Given the description of an element on the screen output the (x, y) to click on. 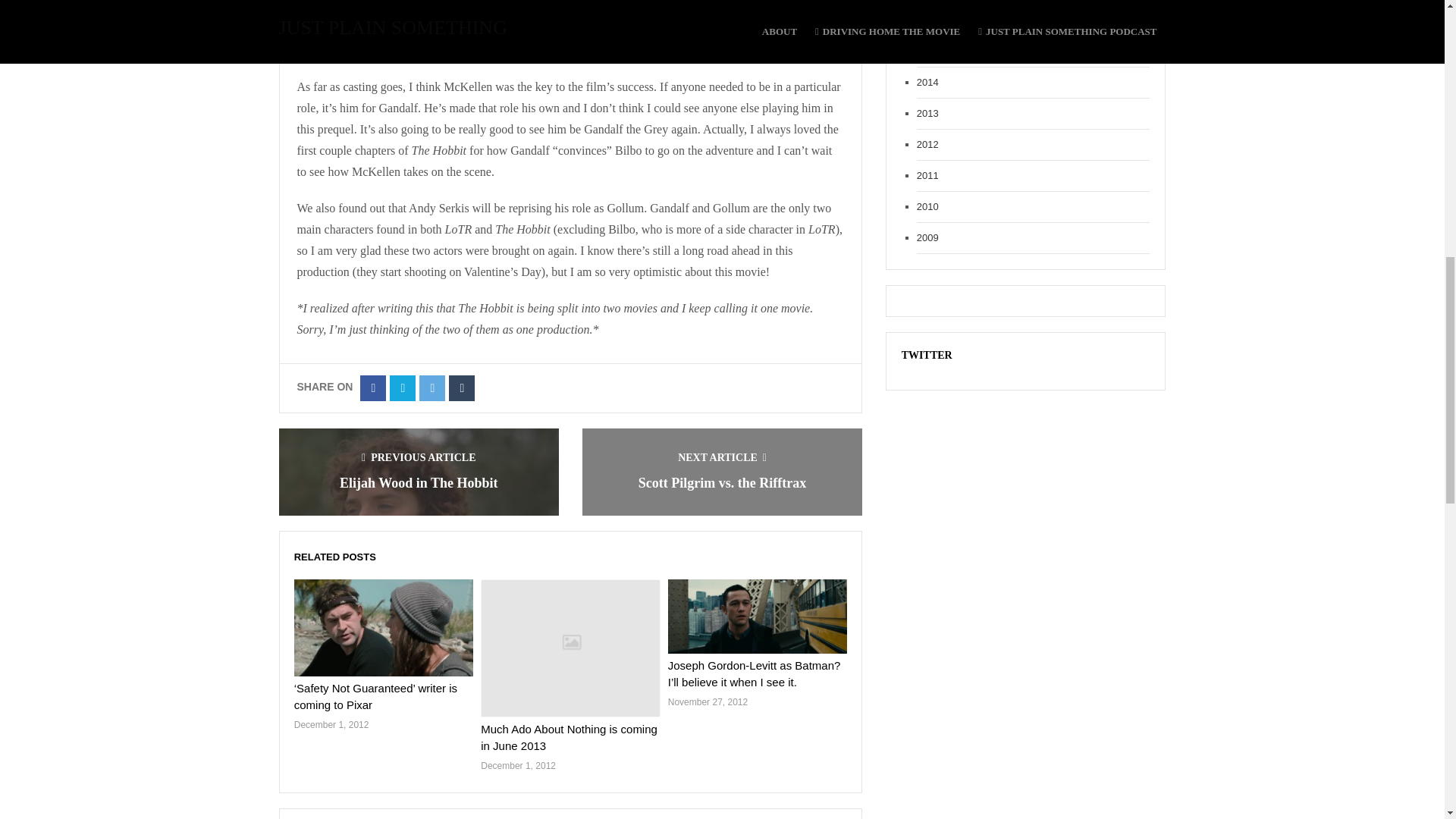
Scott Pilgrim vs. the Rifftrax (722, 482)
Share on Reddit (432, 388)
Much Ado About Nothing is coming in June 2013 (569, 737)
Share on Twitter (402, 388)
Elijah Wood in The Hobbit (418, 482)
Much Ado About Nothing is coming in June 2013 (569, 737)
McKellen is in (623, 50)
Share on Tumblr (461, 388)
Share on Facebook (372, 388)
